Given the description of an element on the screen output the (x, y) to click on. 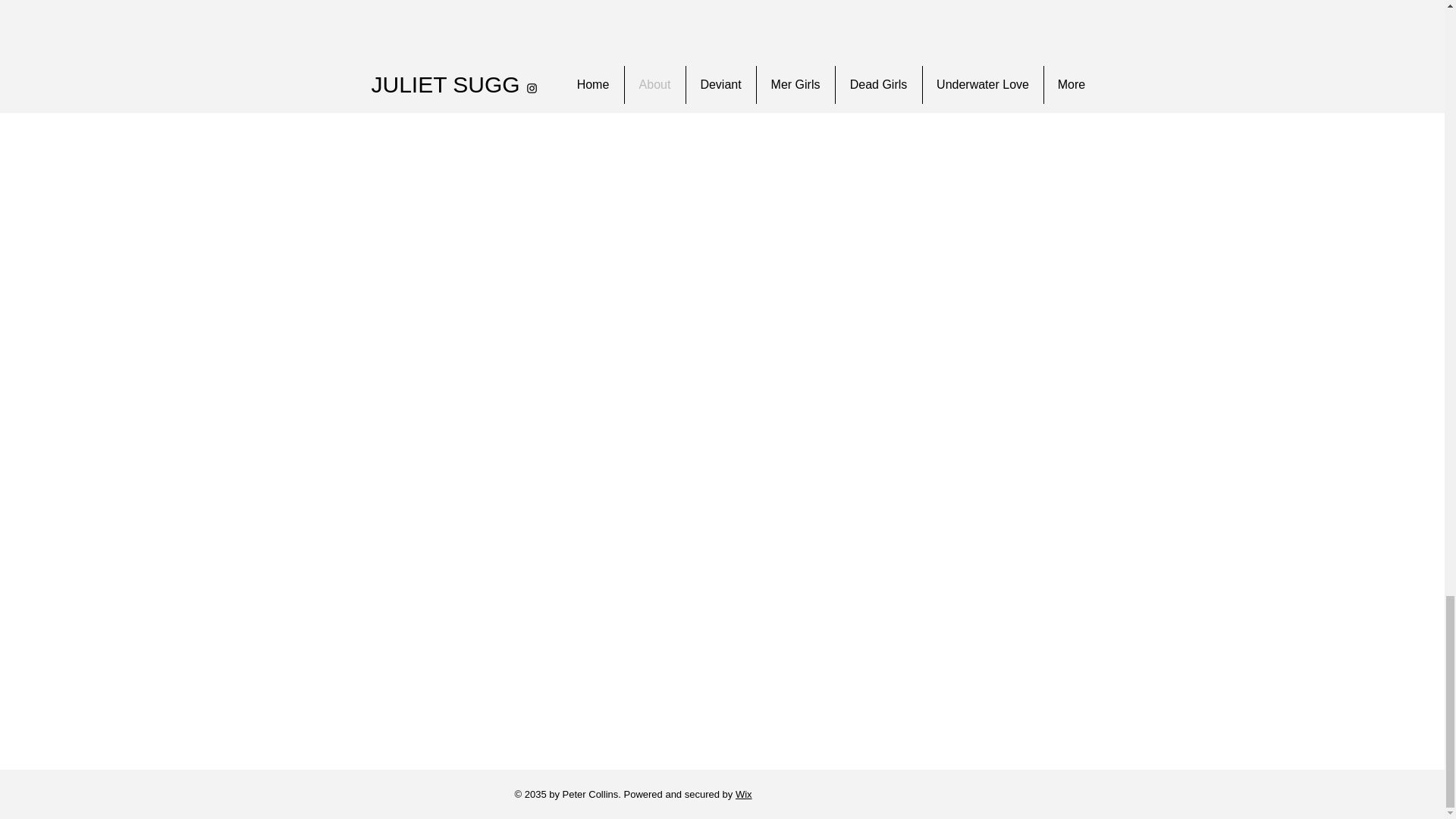
Wix (743, 794)
